Given the description of an element on the screen output the (x, y) to click on. 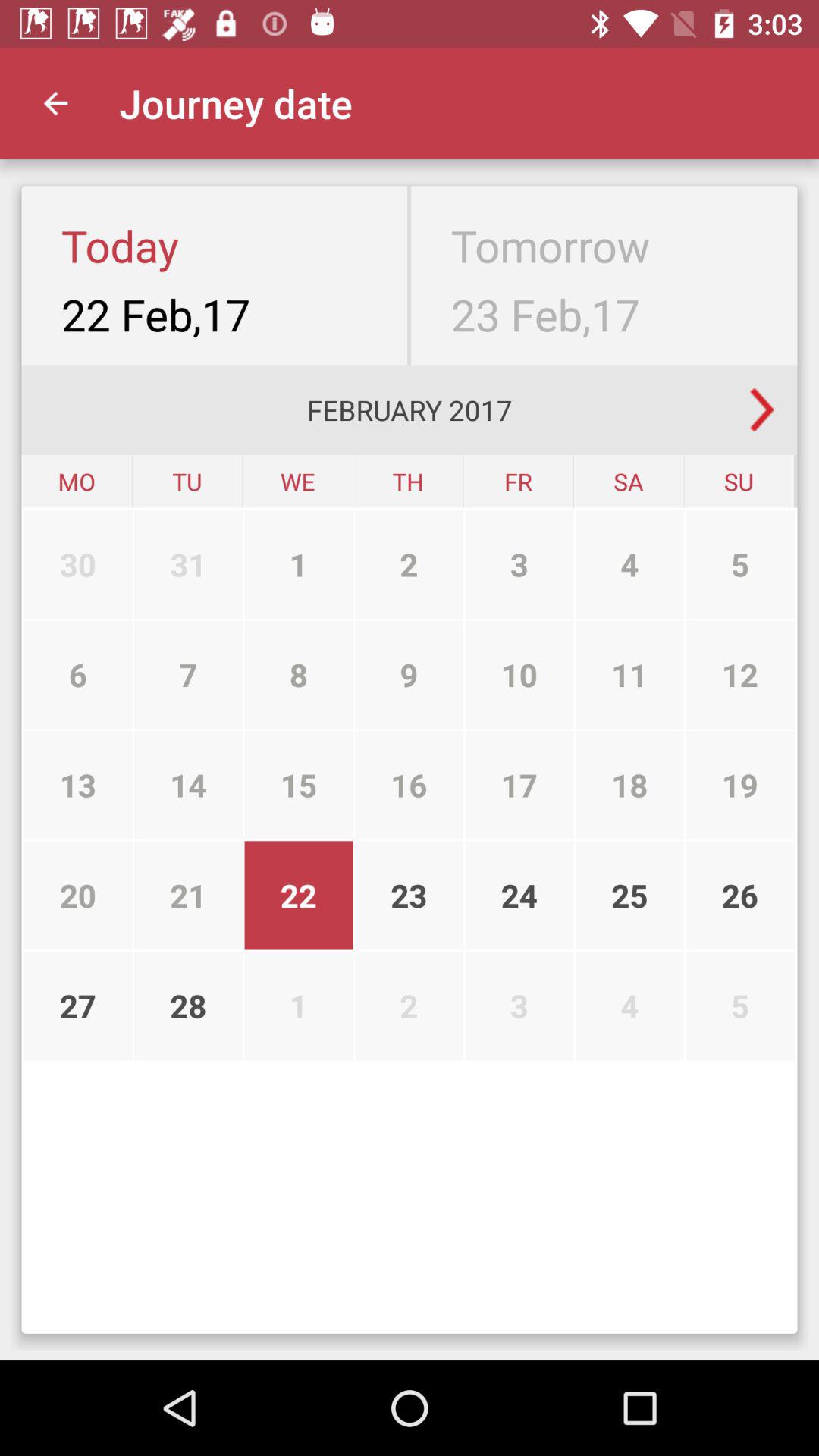
choose the item next to 10 icon (629, 784)
